Given the description of an element on the screen output the (x, y) to click on. 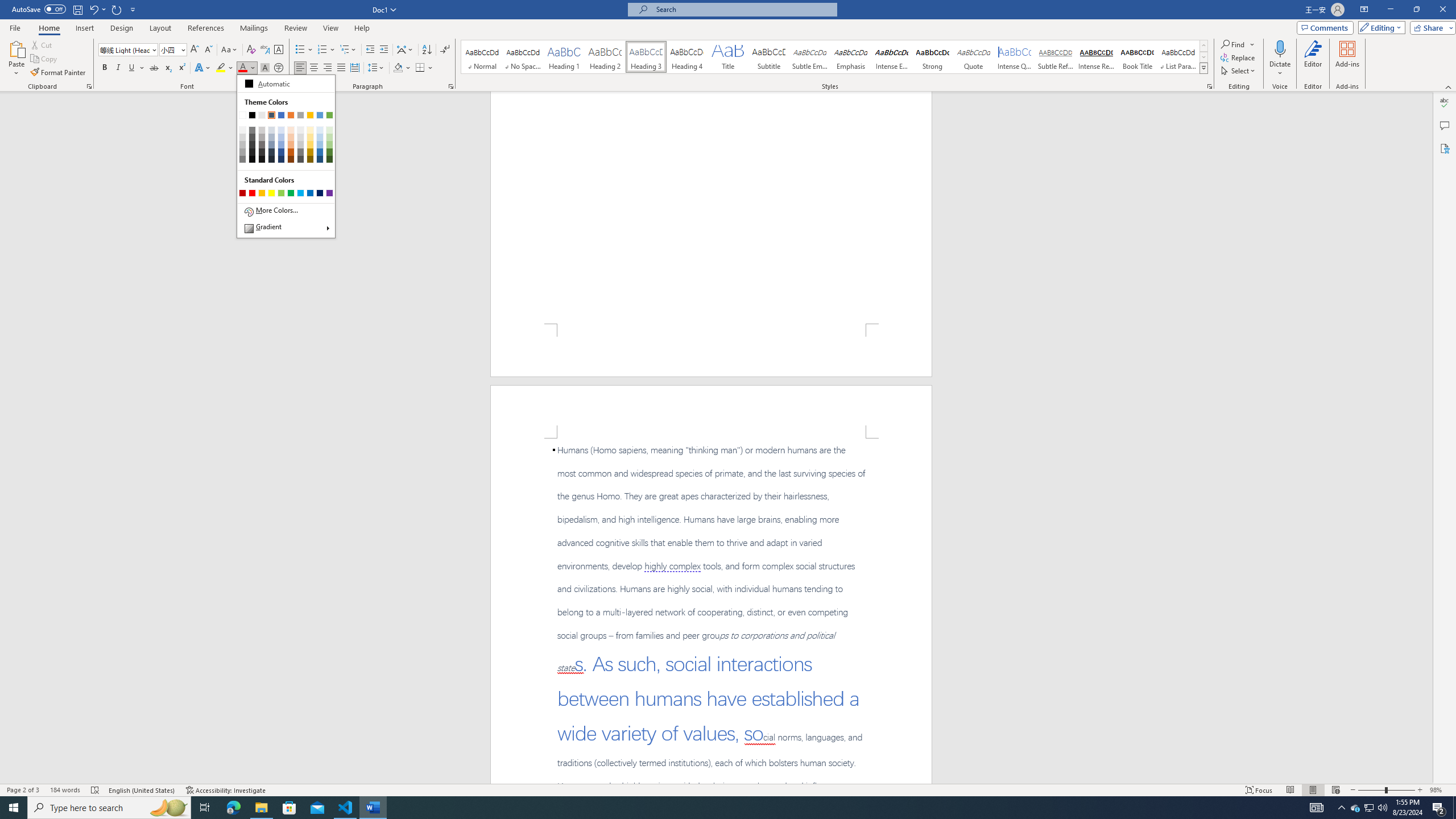
Bullets (304, 49)
Word - 1 running window (373, 807)
Repeat Style (117, 9)
Shrink Font (208, 49)
Undo Apply Quick Style (96, 9)
Language English (United States) (141, 790)
File Explorer - 1 running window (261, 807)
Action Center, 2 new notifications (1439, 807)
Minimize (1390, 9)
File Tab (15, 27)
Running applications (717, 807)
AutoSave (38, 9)
Comments (1444, 125)
Page 1 content (710, 207)
Accessibility (1444, 147)
